Given the description of an element on the screen output the (x, y) to click on. 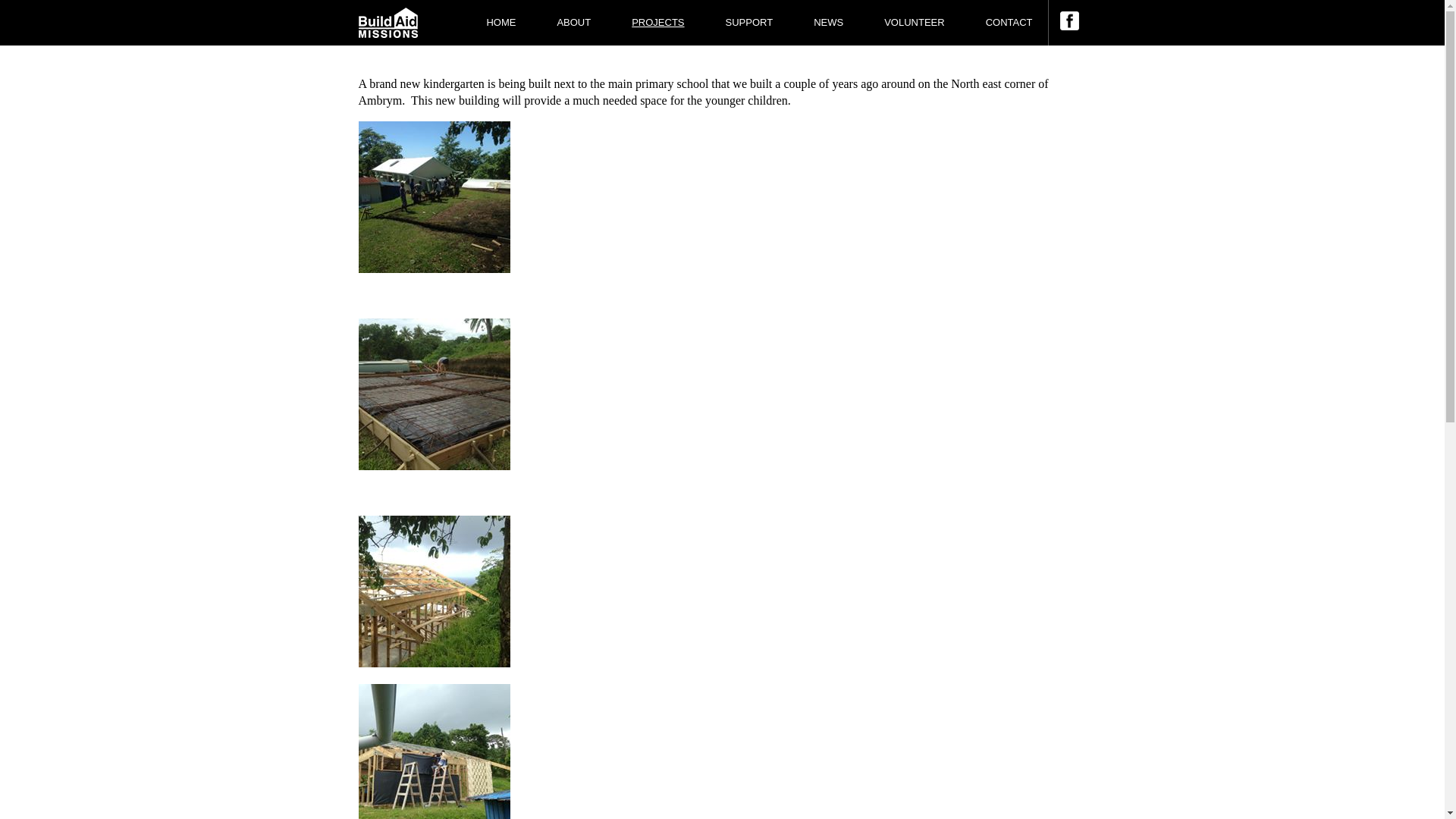
Build Aid Missions Element type: text (387, 22)
Facebook Element type: hover (1069, 25)
NEWS Element type: text (828, 22)
PROJECTS Element type: text (657, 22)
ABOUT Element type: text (573, 22)
CONTACT Element type: text (999, 22)
HOME Element type: text (500, 22)
VOLUNTEER Element type: text (914, 22)
SUPPORT Element type: text (749, 22)
